Given the description of an element on the screen output the (x, y) to click on. 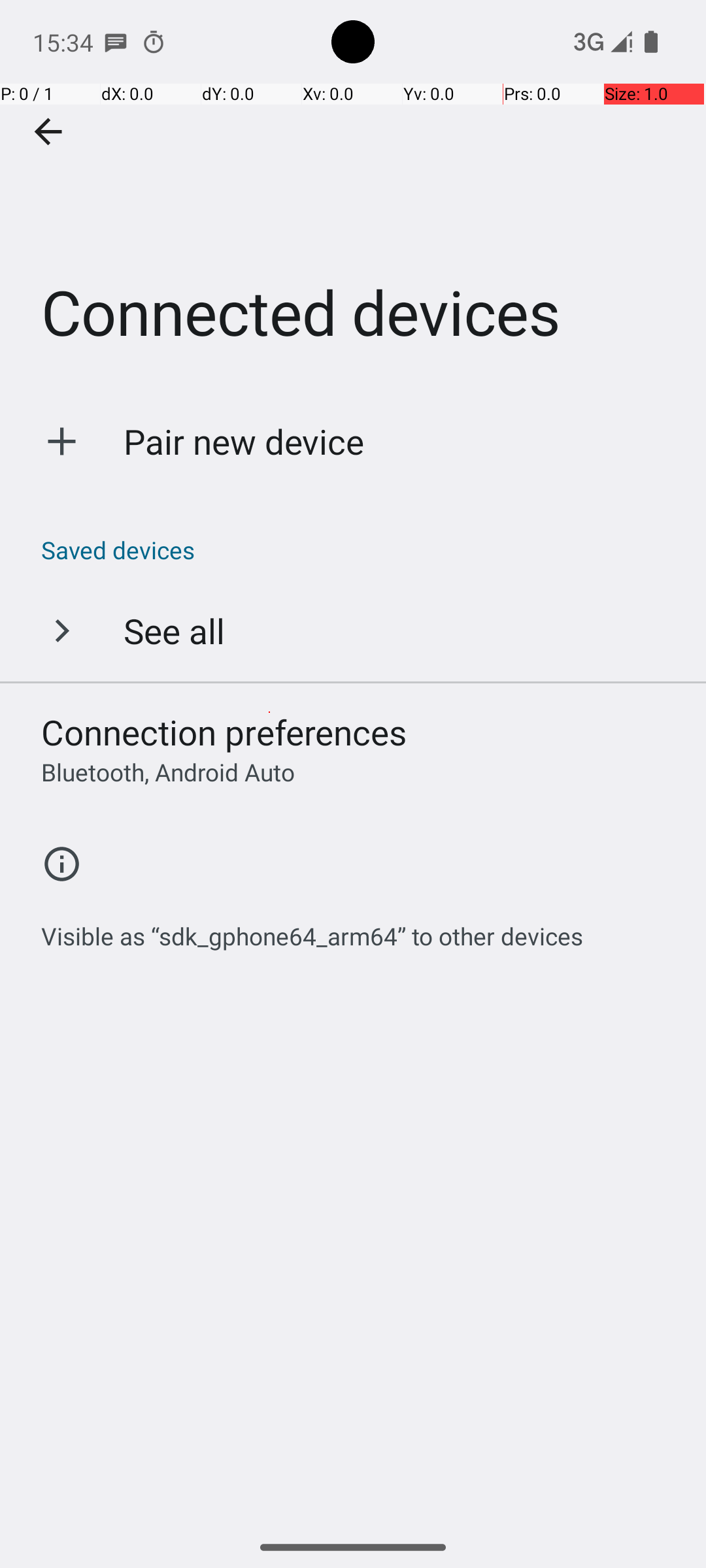
Visible as “sdk_gphone64_arm64” to other devices Element type: android.widget.TextView (312, 928)
